Given the description of an element on the screen output the (x, y) to click on. 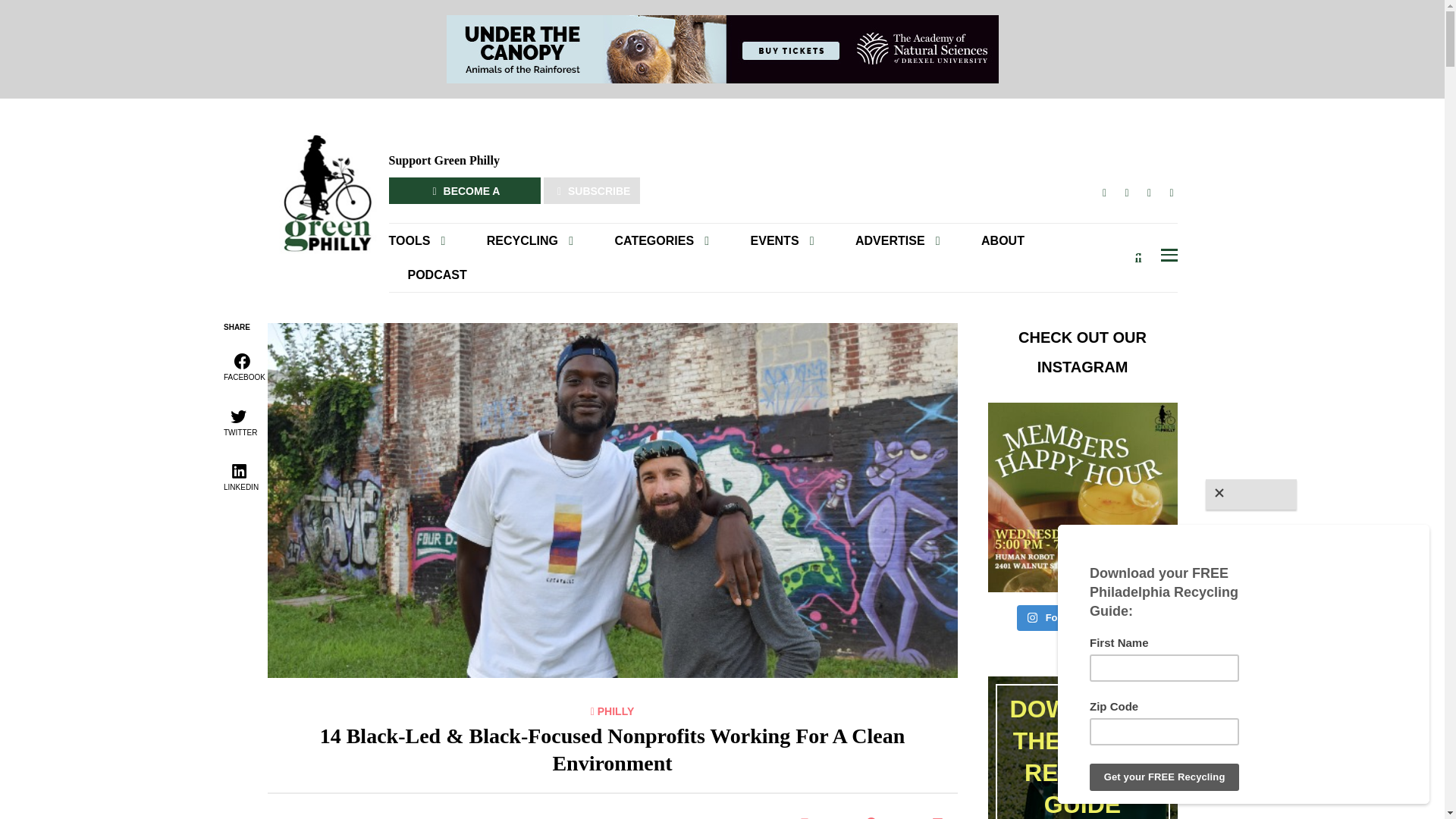
Click to share on LinkedIn (239, 475)
Click to share on LinkedIn (939, 815)
BECOME A SUPPORTER (464, 190)
Click to share on Facebook (873, 815)
TOOLS (426, 240)
Click to share on Facebook (242, 365)
Click to share on Twitter (906, 815)
LINKEDIN (1171, 192)
Click to email a link to a friend (840, 815)
BIKING (675, 266)
Click to share on Twitter (238, 420)
Subscribe (935, 278)
SUBSCRIBE (591, 190)
Click to print (807, 815)
FACEBOOK (1104, 192)
